Given the description of an element on the screen output the (x, y) to click on. 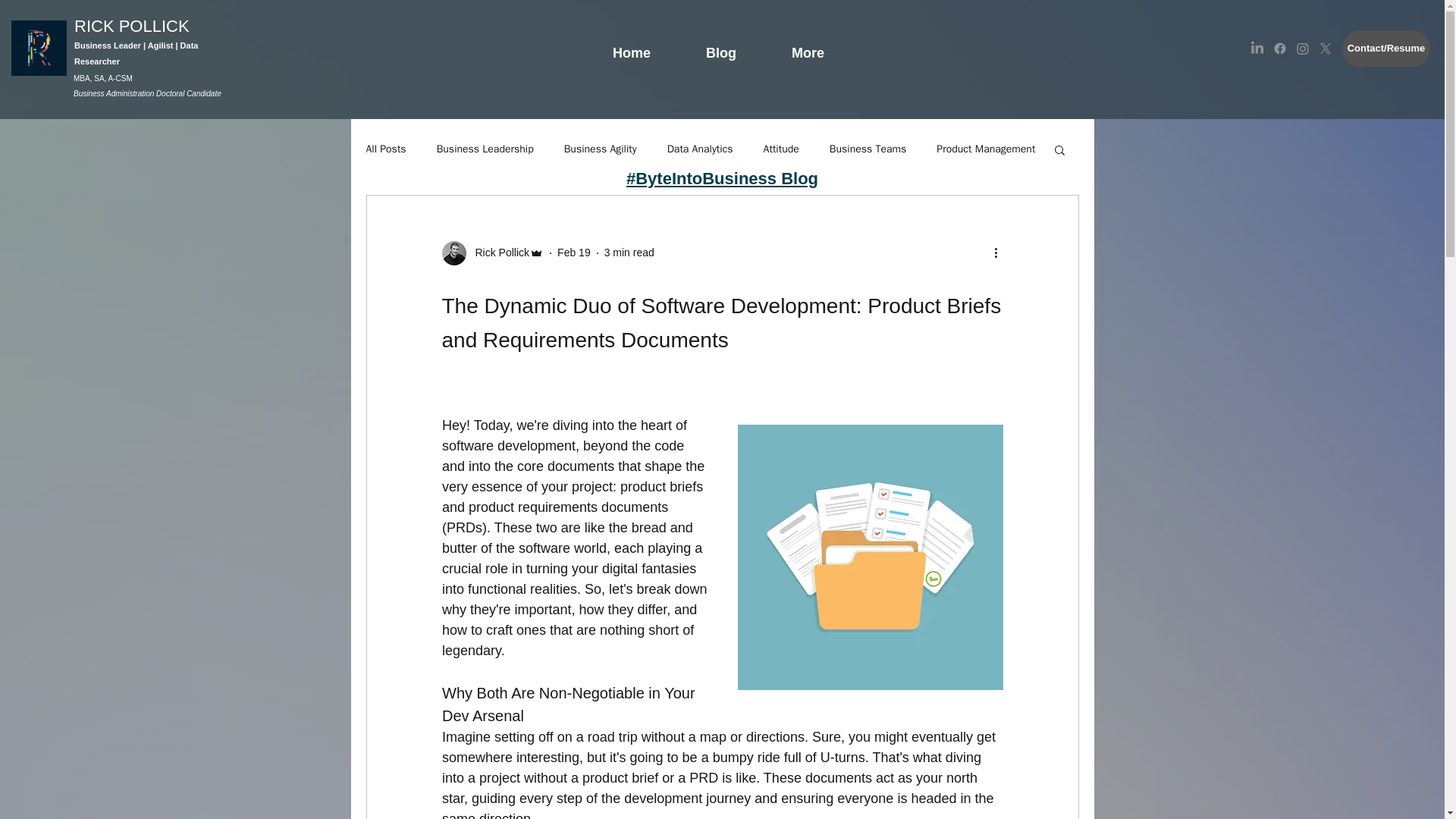
Product Management (985, 149)
Blog (721, 46)
Home (631, 46)
All Posts (385, 149)
3 min read (628, 252)
Business Teams (868, 149)
Feb 19 (574, 252)
Rick Pollick (492, 252)
MBA, SA, A-CSM (103, 77)
Business Administration Doctoral Candidate (147, 93)
Business Agility (600, 149)
Business Leadership (485, 149)
Rick Pollick (497, 252)
RICK  (96, 26)
Data Analytics (699, 149)
